Given the description of an element on the screen output the (x, y) to click on. 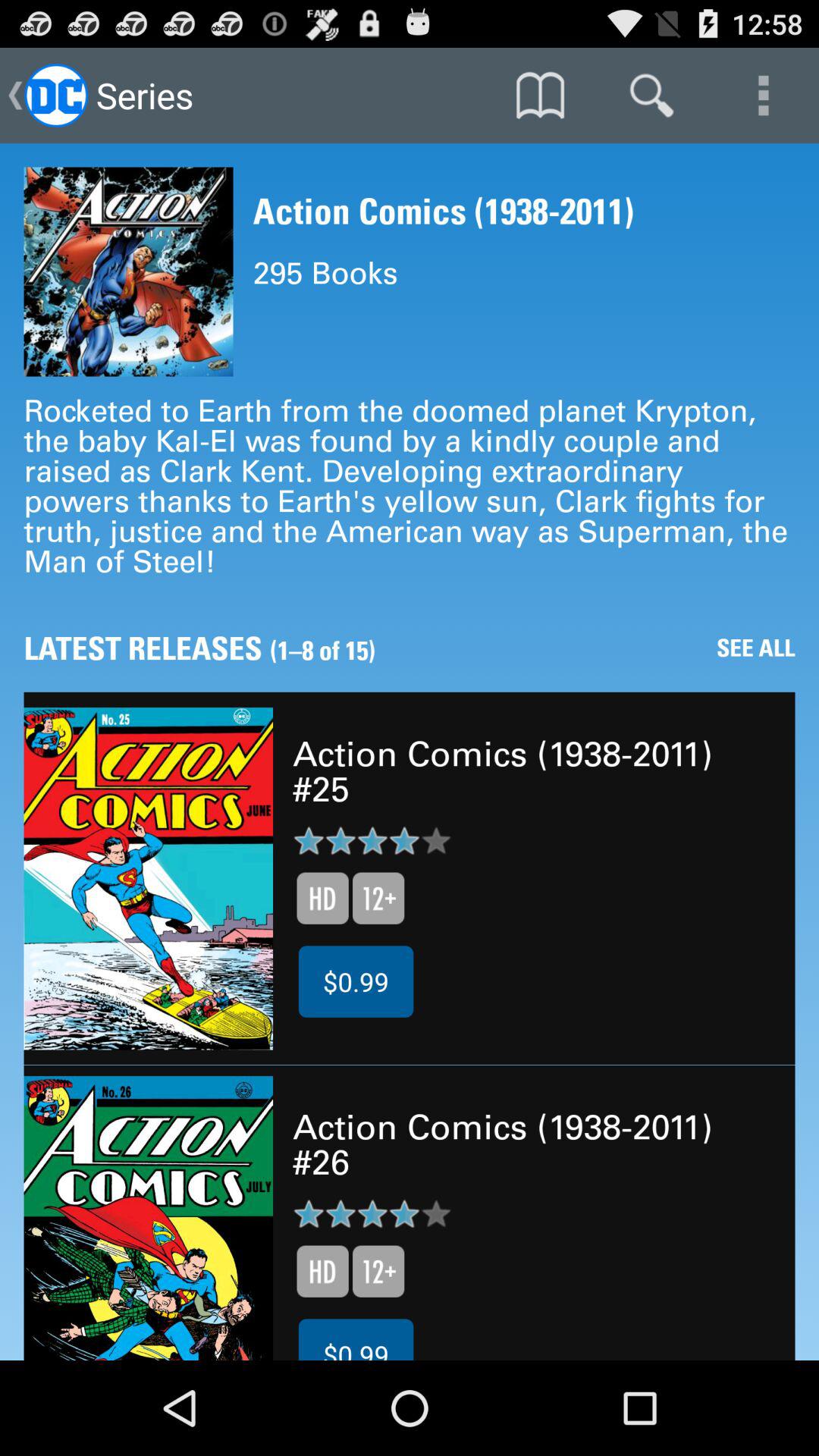
turn on app next to series app (540, 95)
